Given the description of an element on the screen output the (x, y) to click on. 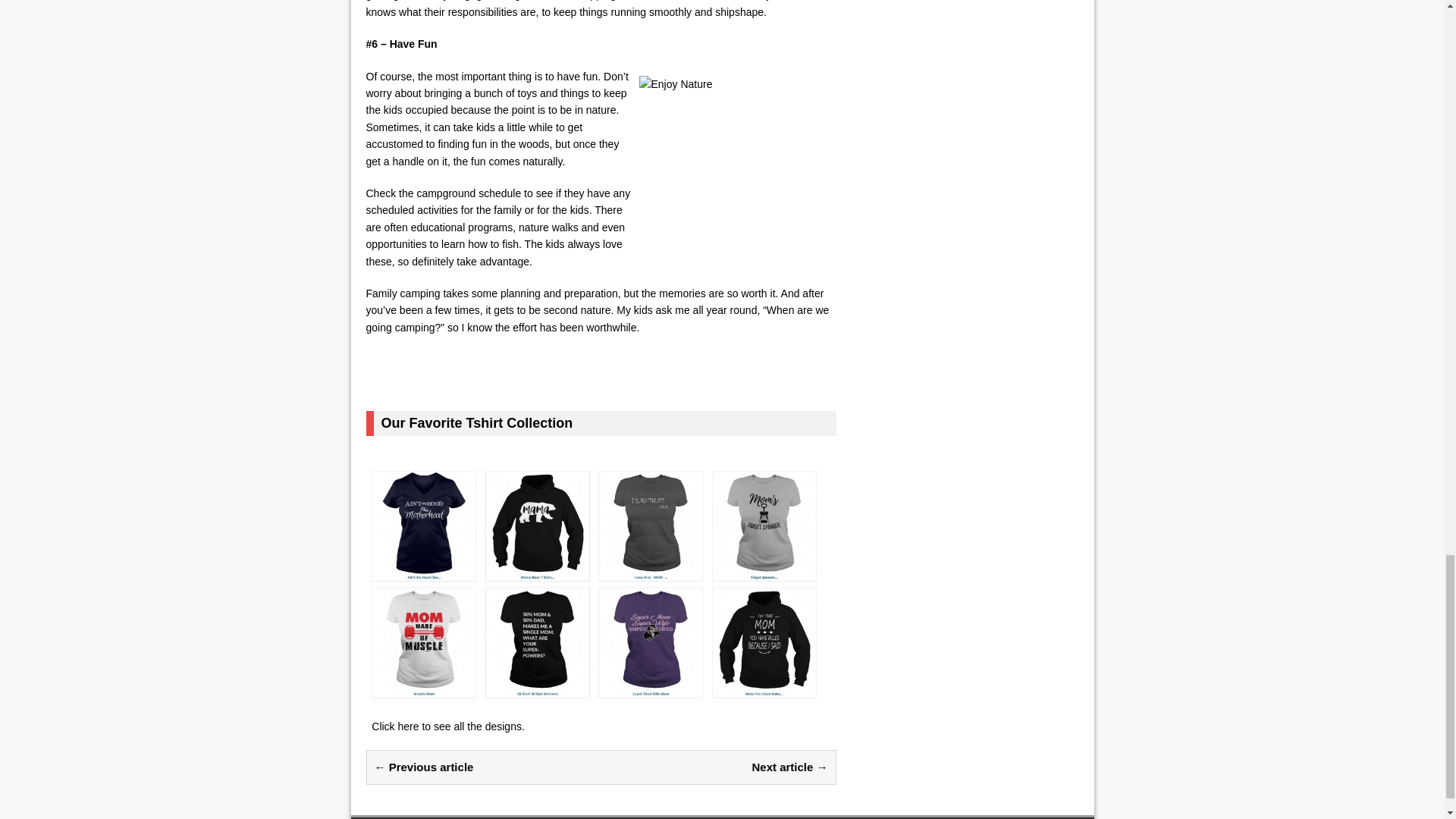
Click here to see all the designs (446, 726)
